Given the description of an element on the screen output the (x, y) to click on. 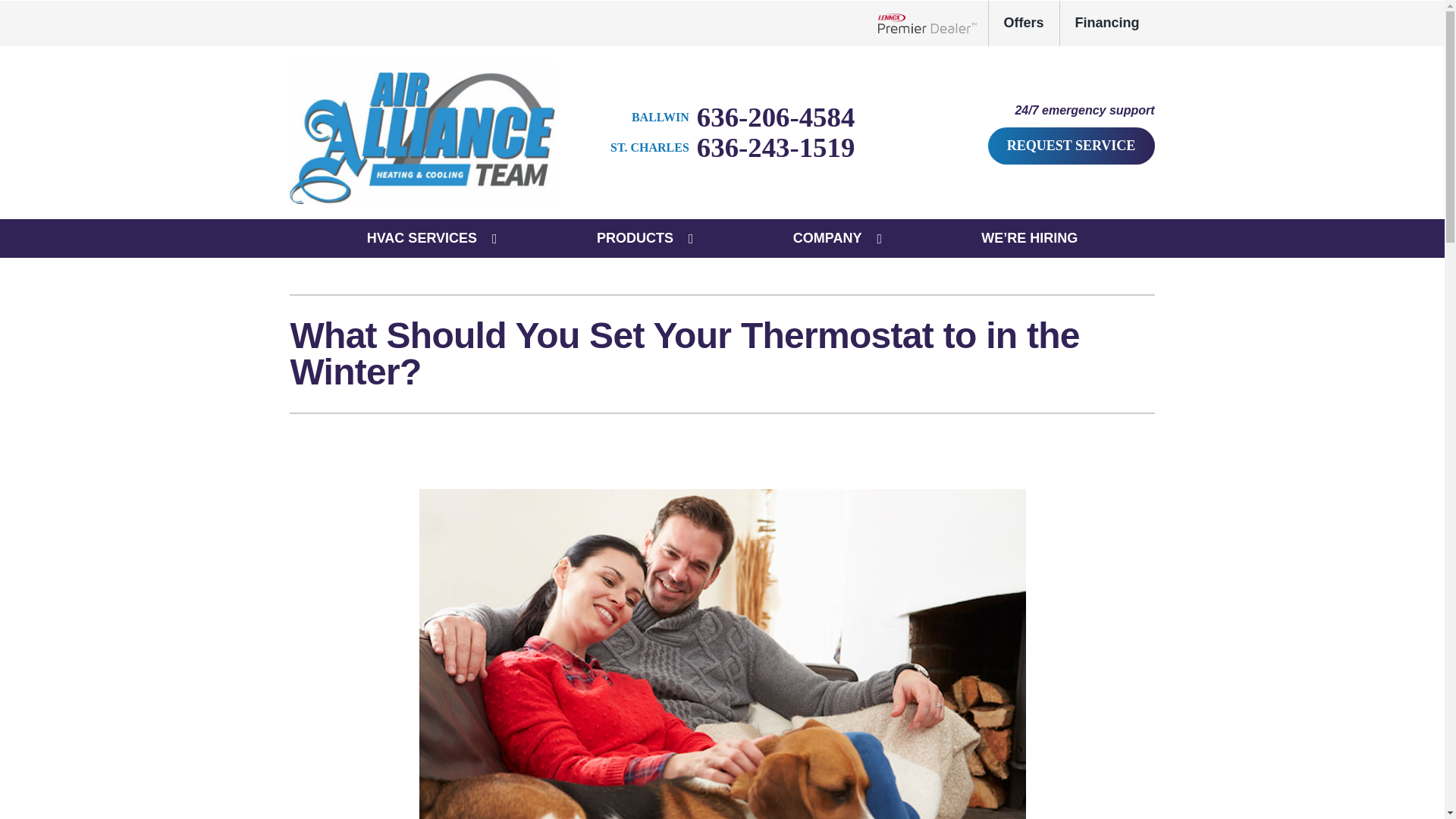
636-206-4584 (742, 116)
REQUEST SERVICE (1071, 145)
636-243-1519 (732, 147)
Offers (1023, 22)
PRODUCTS (634, 238)
COMPANY (827, 238)
Financing (1106, 22)
HVAC SERVICES (422, 238)
